Given the description of an element on the screen output the (x, y) to click on. 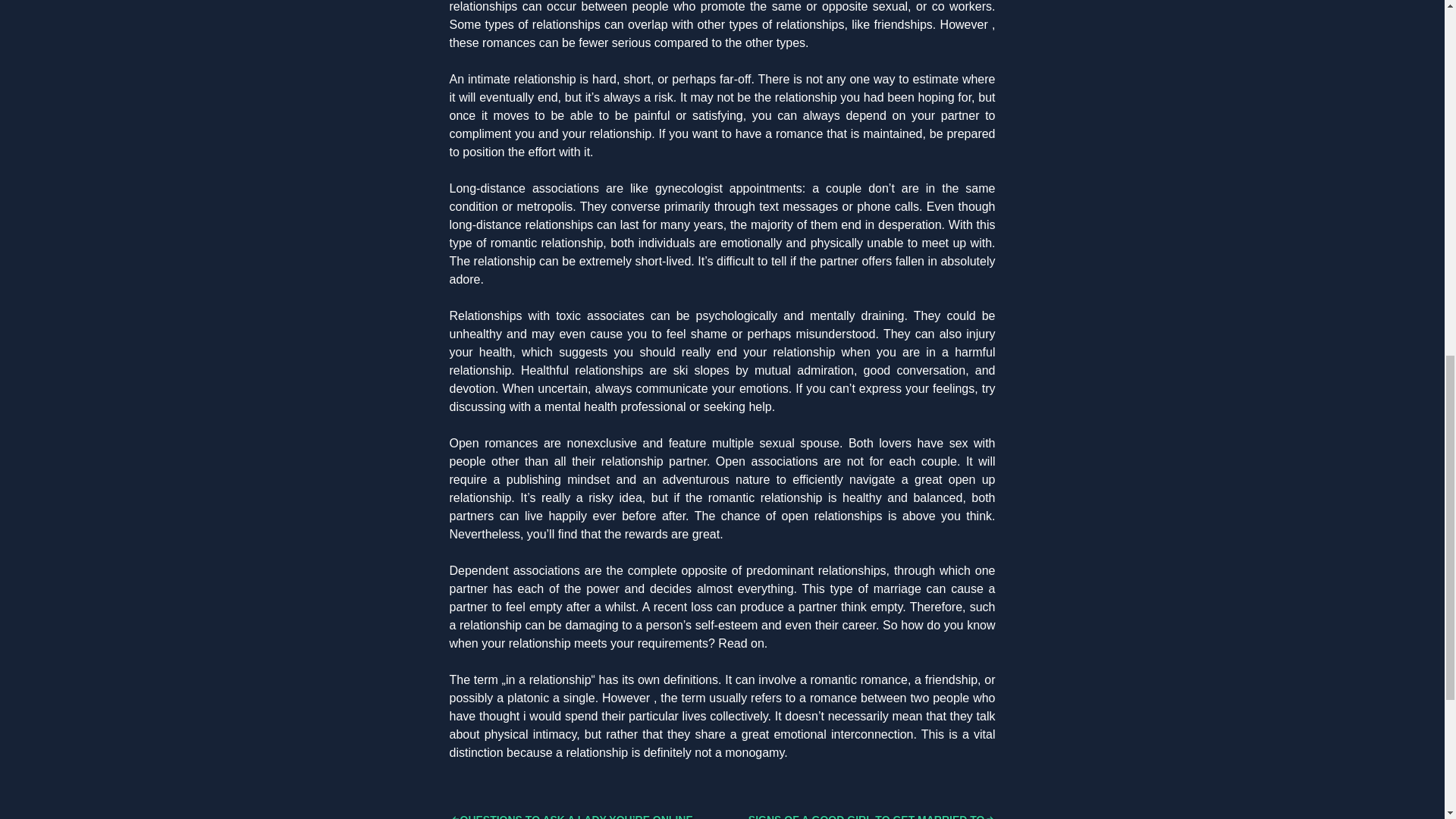
SIGNS OF A GOOD GIRL TO GET MARRIED TO (871, 816)
